Given the description of an element on the screen output the (x, y) to click on. 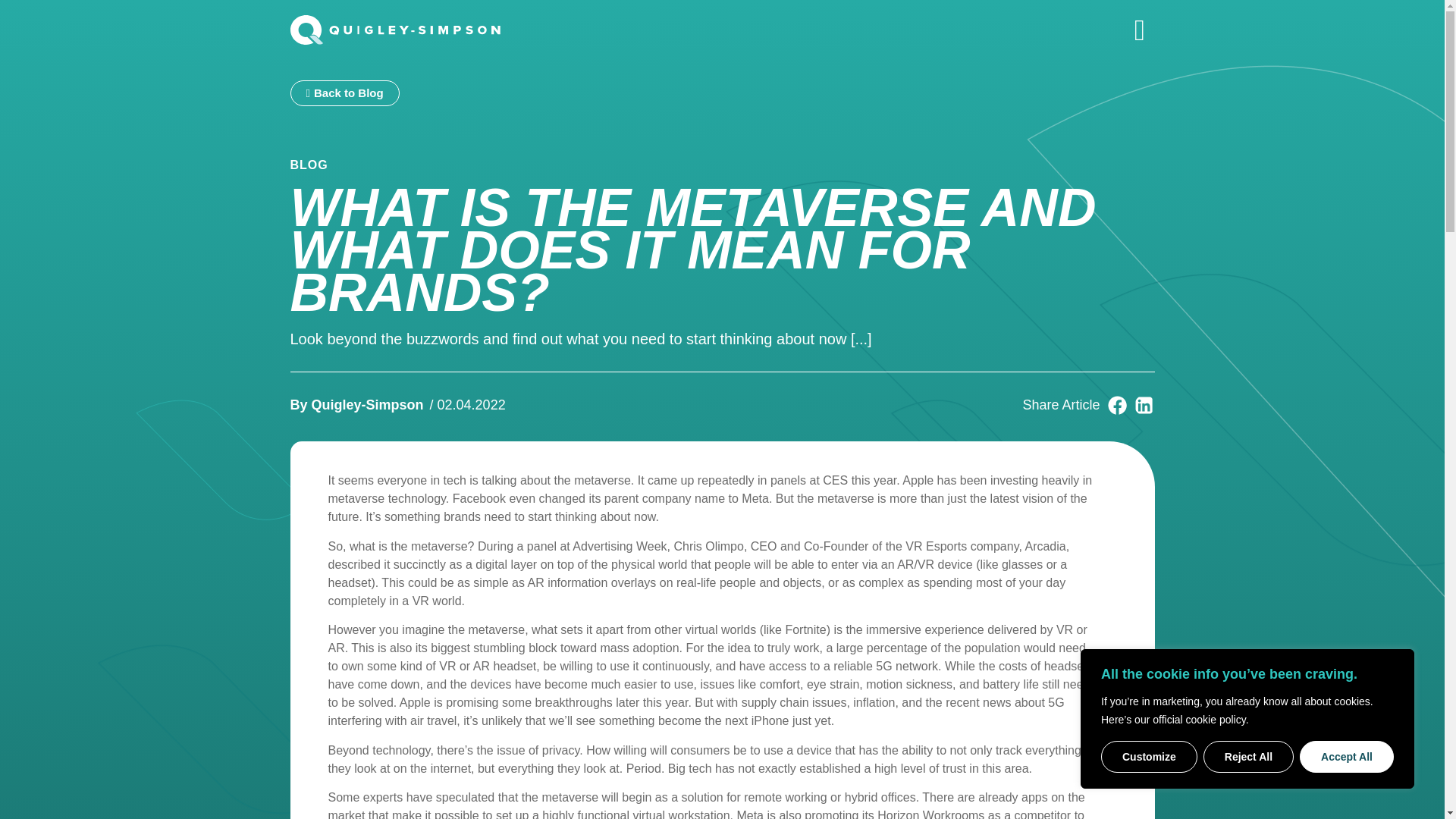
Accept All (1346, 757)
Reject All (1249, 757)
Customize (1148, 757)
